Given the description of an element on the screen output the (x, y) to click on. 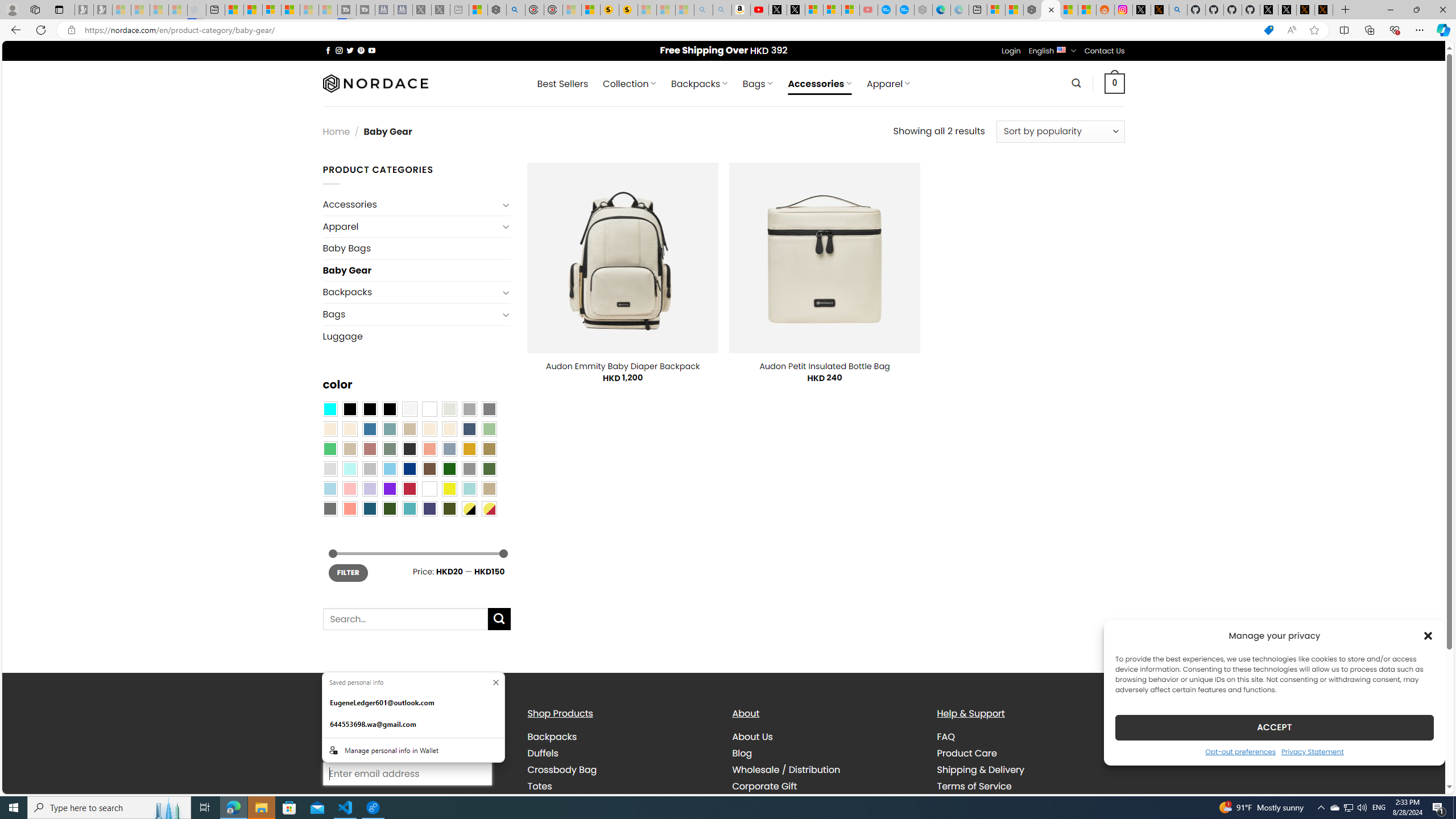
Opinion: Op-Ed and Commentary - USA TODAY (887, 9)
Class: cmplz-close (1428, 635)
Audon Petit Insulated Bottle Bag (823, 365)
Product Care (1030, 753)
All Gray (488, 408)
Clear (429, 408)
Corporate Gift (826, 785)
Aqua (468, 488)
Beige (329, 428)
Wholesale / Distribution (786, 770)
